Given the description of an element on the screen output the (x, y) to click on. 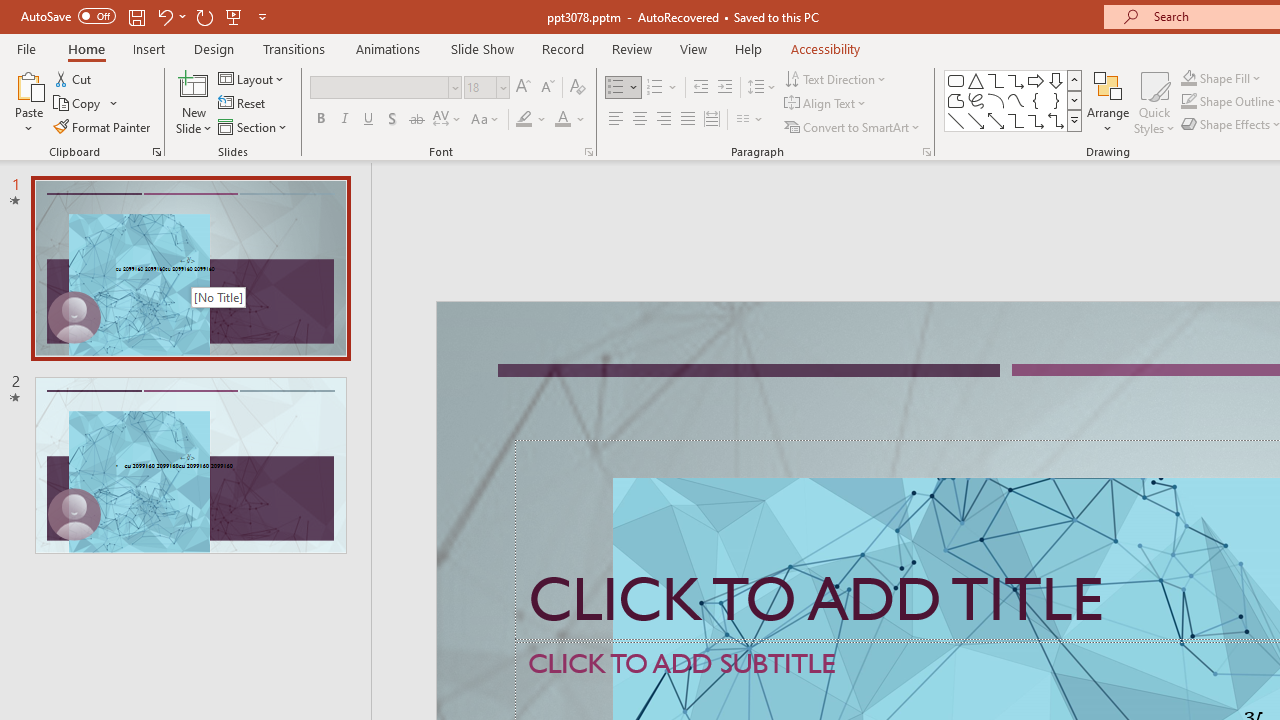
Line Arrow: Double (995, 120)
